Given the description of an element on the screen output the (x, y) to click on. 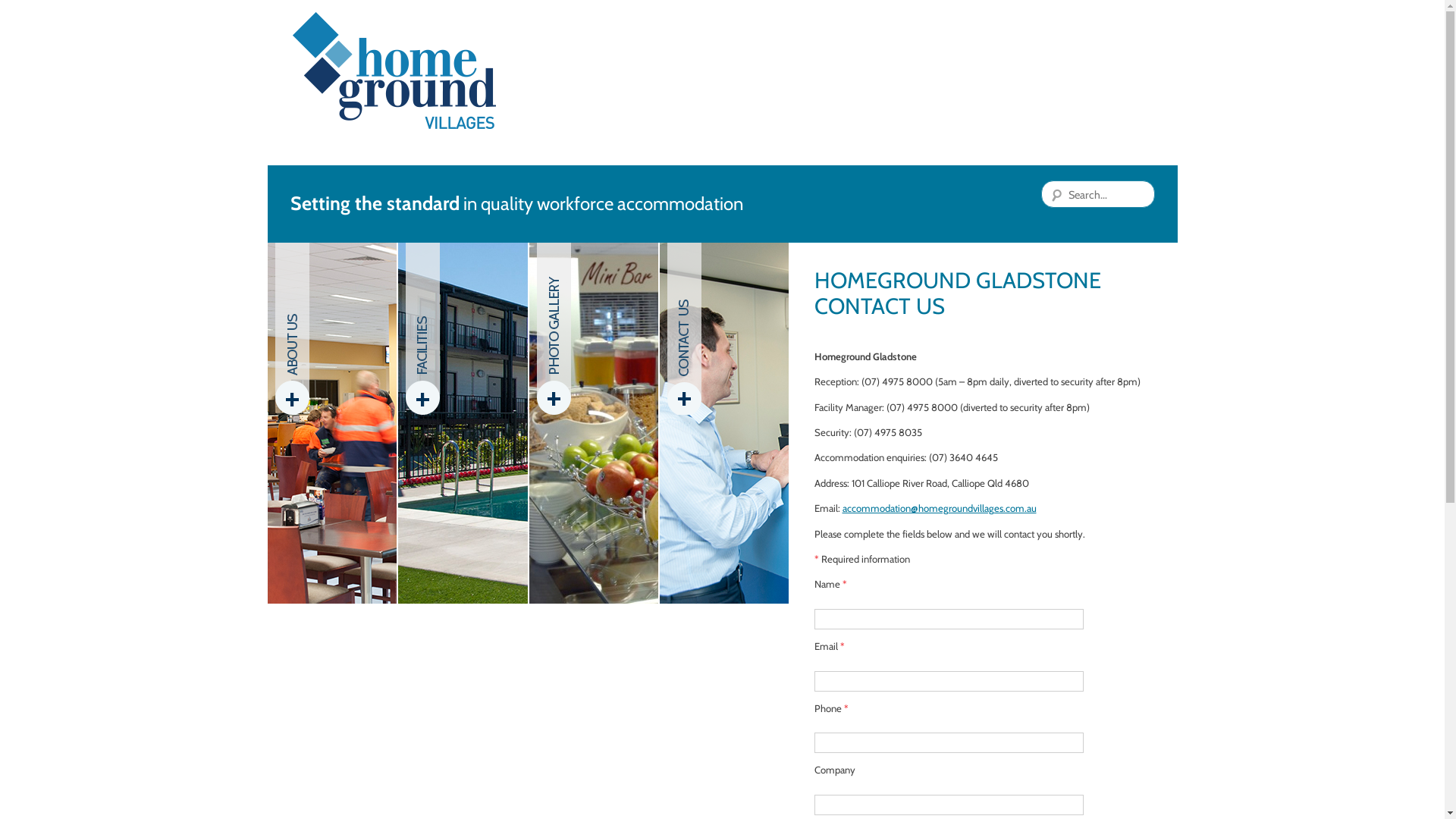
Search Element type: text (30, 11)
accommodation@homegroundvillages.com.au Element type: text (938, 508)
Homeground Villages Element type: text (393, 70)
